Given the description of an element on the screen output the (x, y) to click on. 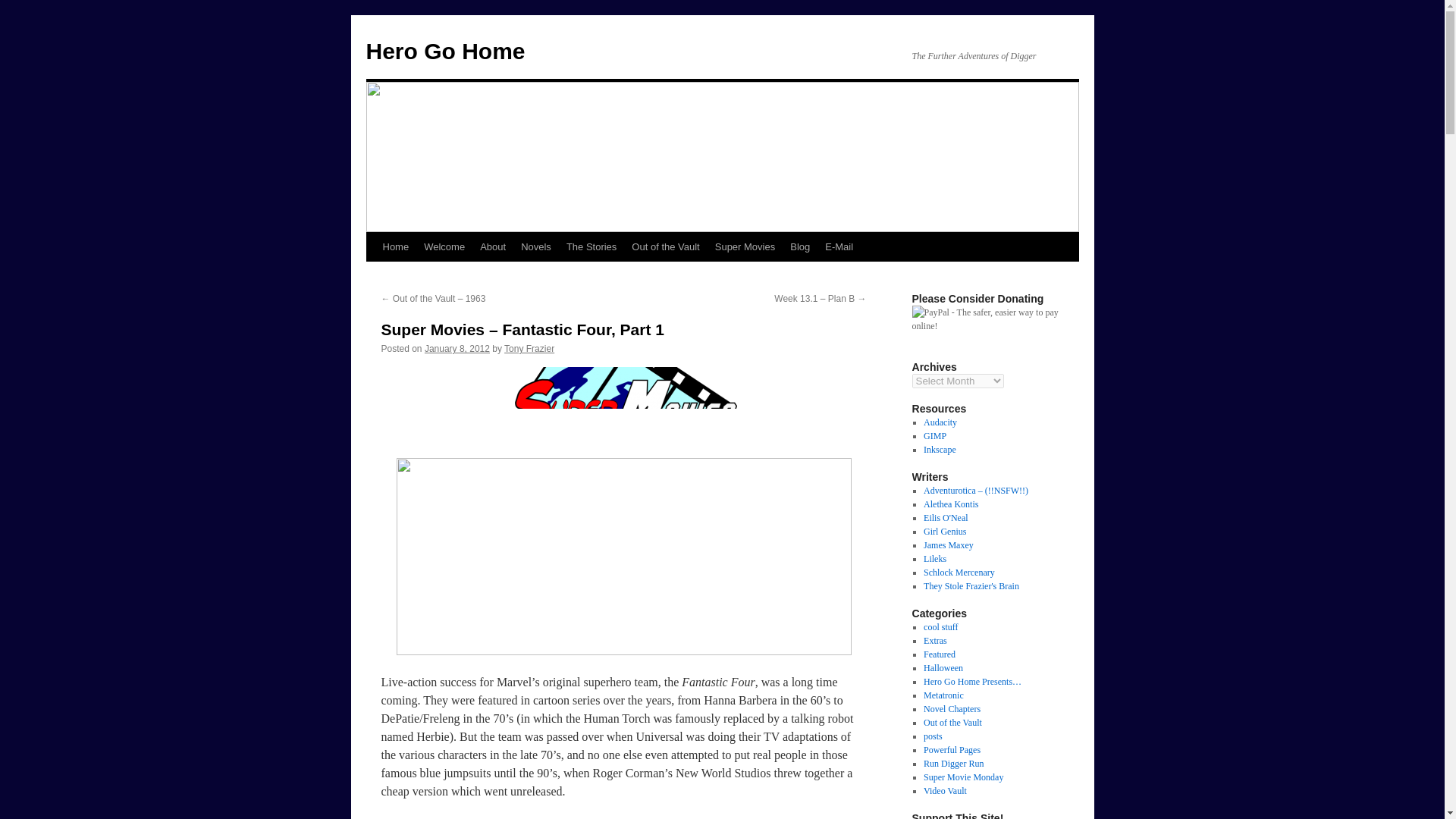
The Stories (591, 246)
Super Movies (745, 246)
View all posts by Tony Frazier (528, 348)
Inkscape (939, 449)
Home (395, 246)
SuperMovies (622, 402)
Fantastic Four, 2005 (623, 556)
Hero Go Home (444, 50)
Welcome (443, 246)
Blog (799, 246)
About (492, 246)
Out of the Vault (665, 246)
Hero Go Home (444, 50)
Tony Frazier (528, 348)
Novels (536, 246)
